Given the description of an element on the screen output the (x, y) to click on. 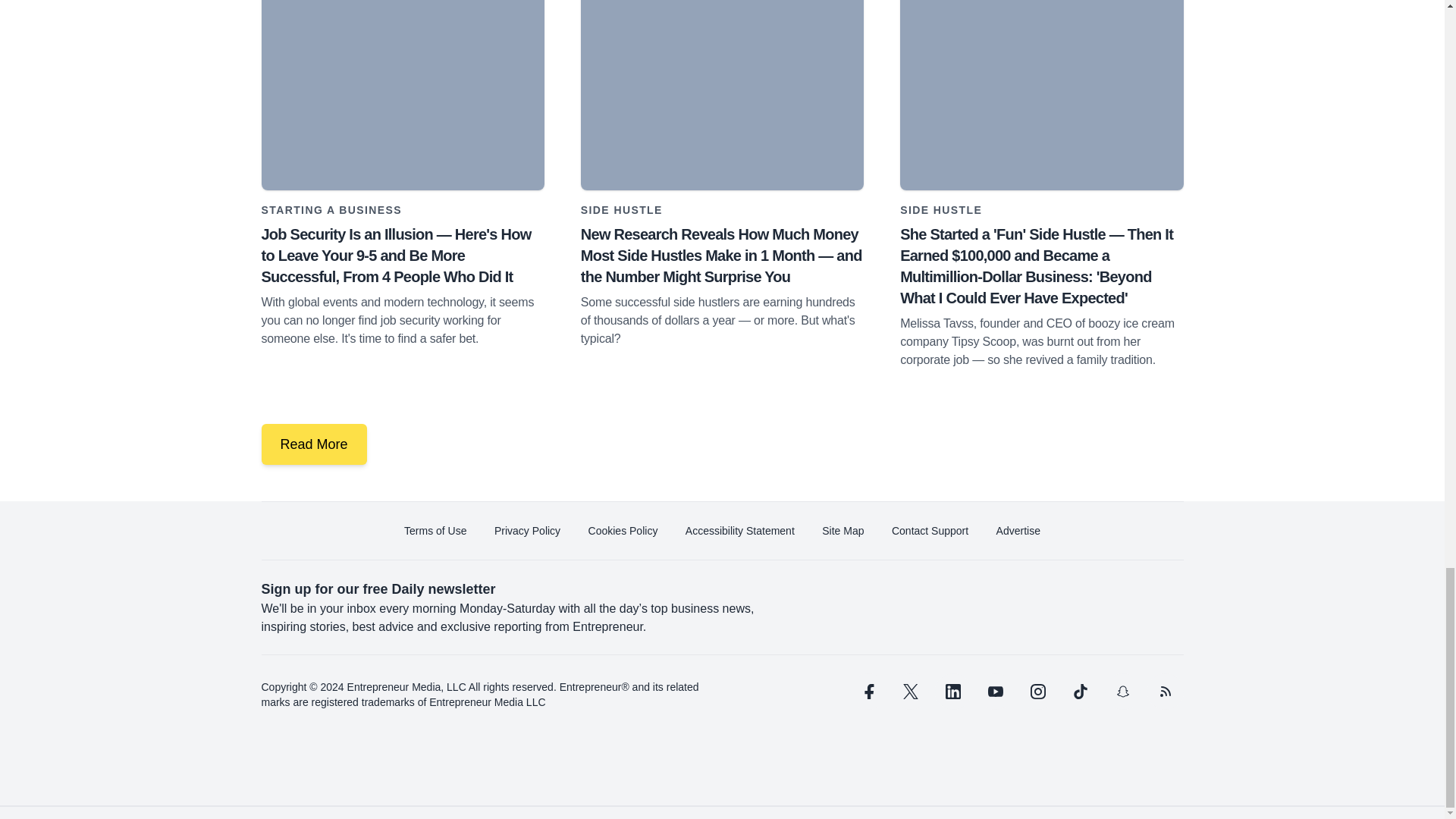
tiktok (1079, 691)
facebook (866, 691)
instagram (1037, 691)
youtube (994, 691)
snapchat (1121, 691)
rss (1164, 691)
linkedin (952, 691)
twitter (909, 691)
